Given the description of an element on the screen output the (x, y) to click on. 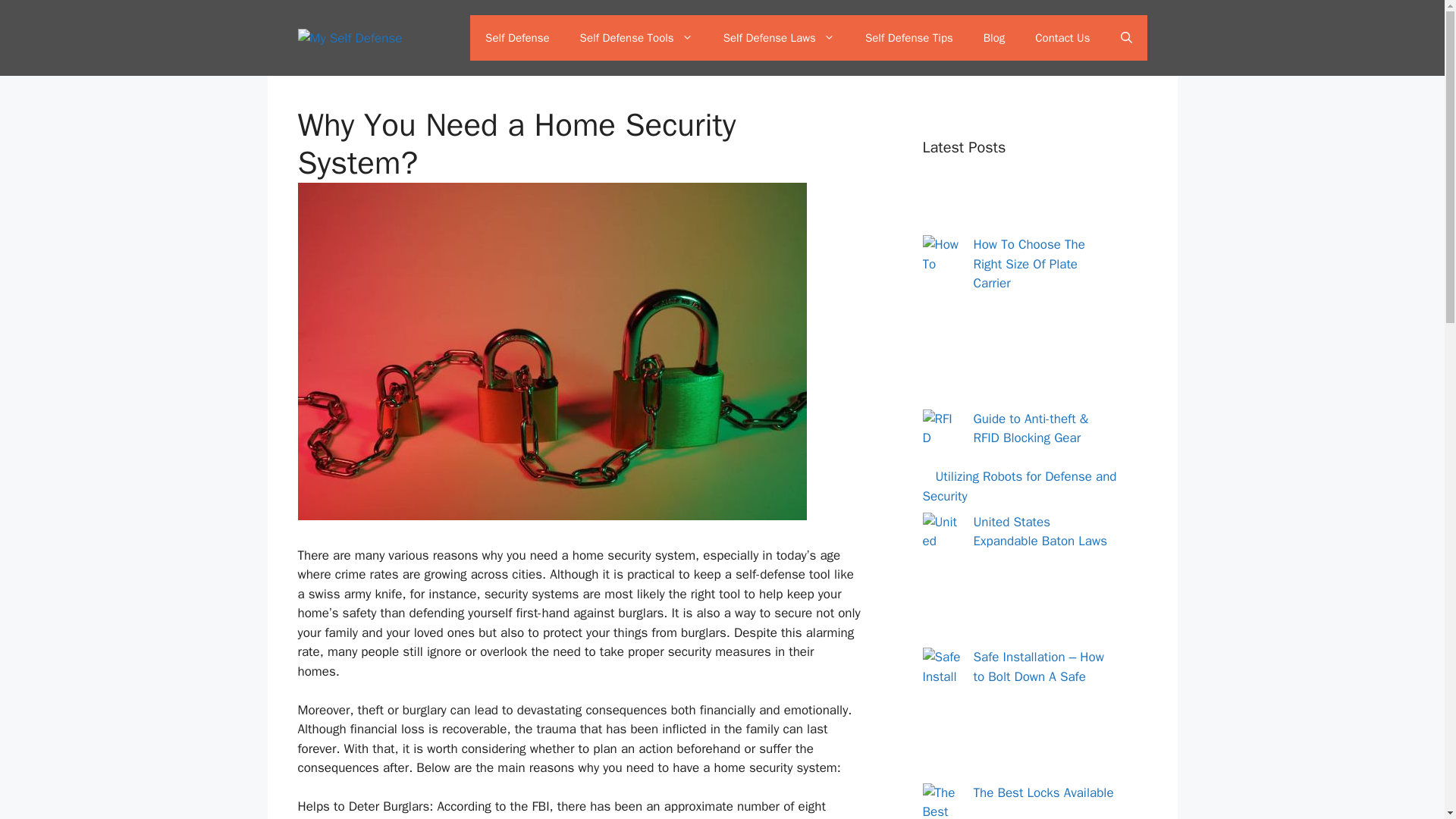
How To Choose The Right Size Of Plate Carrier (1029, 263)
Self Defense Tools (635, 37)
Self Defense Tips (909, 37)
Self Defense (517, 37)
The Best Locks Available (1043, 791)
United States Expandable Baton Laws (1041, 531)
Self Defense Laws (778, 37)
Blog (994, 37)
Contact Us (1062, 37)
Utilizing Robots for Defense and Security (1018, 486)
